Given the description of an element on the screen output the (x, y) to click on. 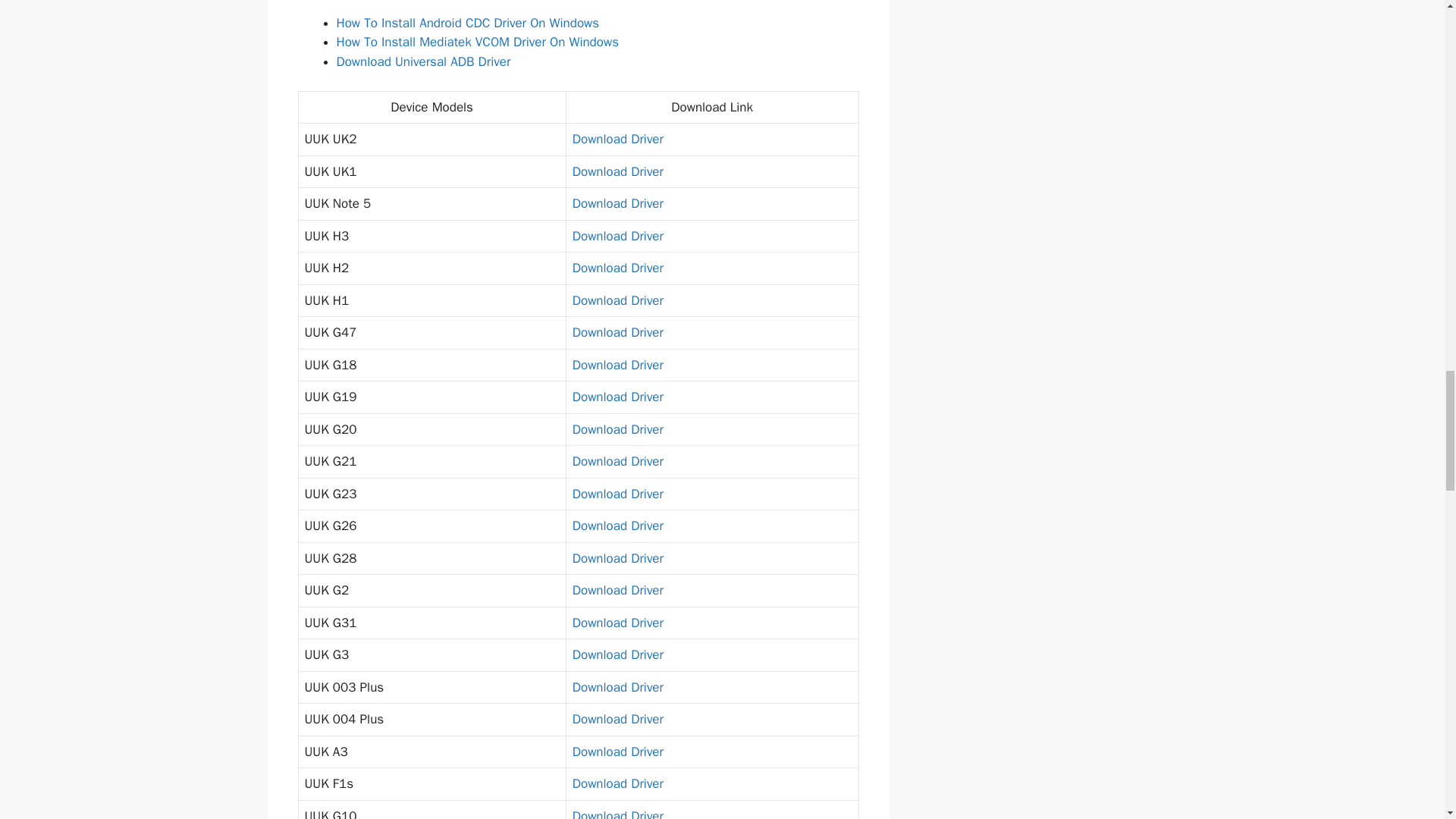
Download Universal ADB Driver (423, 61)
Download Driver (617, 461)
Download Driver (617, 332)
How To Install Mediatek VCOM Driver On Windows (477, 41)
Download Driver (617, 525)
Download Driver (617, 203)
Download Driver (617, 236)
Download Driver (617, 494)
Download Driver (617, 268)
Download Driver (617, 396)
